Given the description of an element on the screen output the (x, y) to click on. 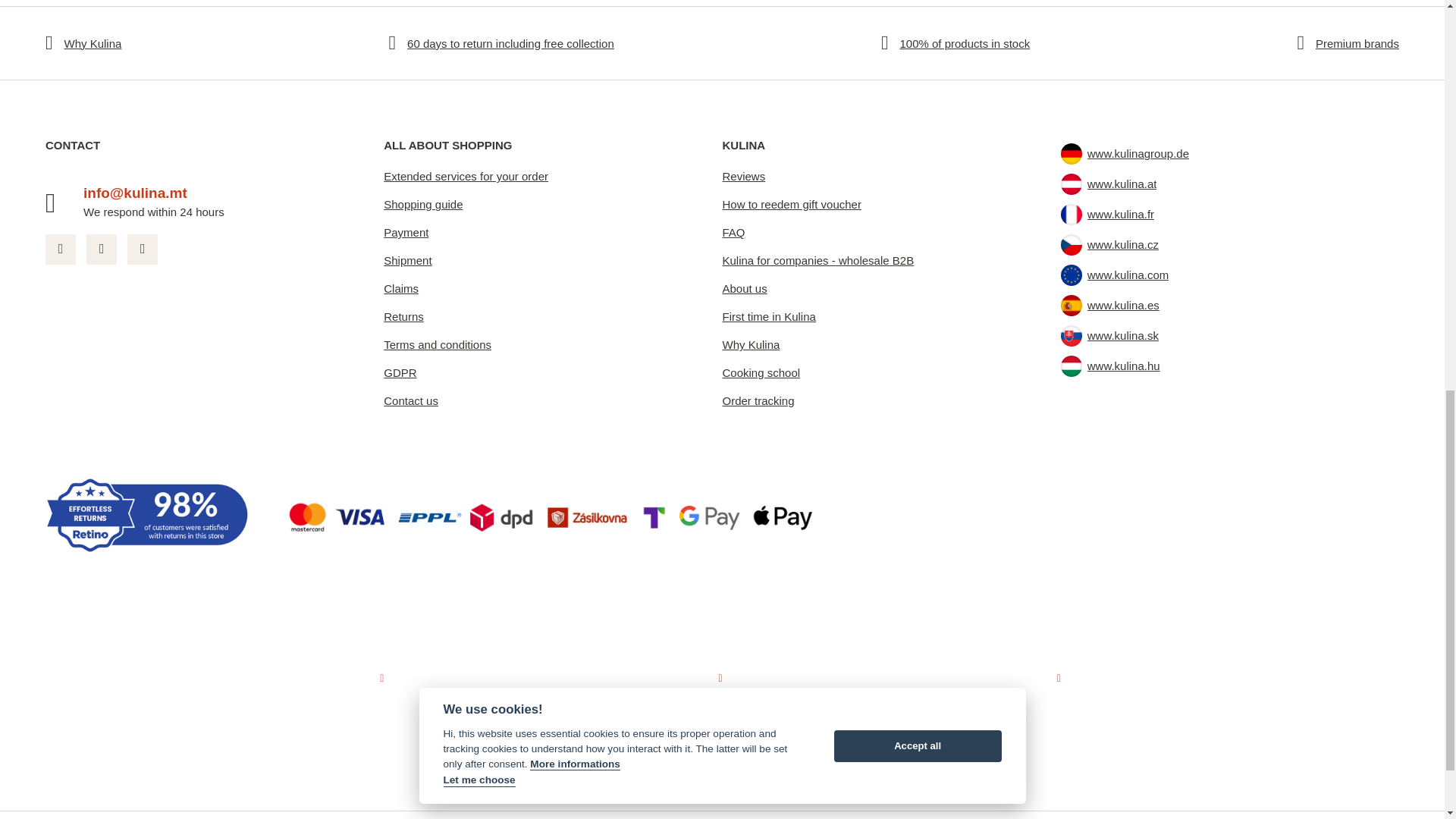
YouTube (142, 249)
Instagram (100, 249)
Facebook (60, 249)
